Given the description of an element on the screen output the (x, y) to click on. 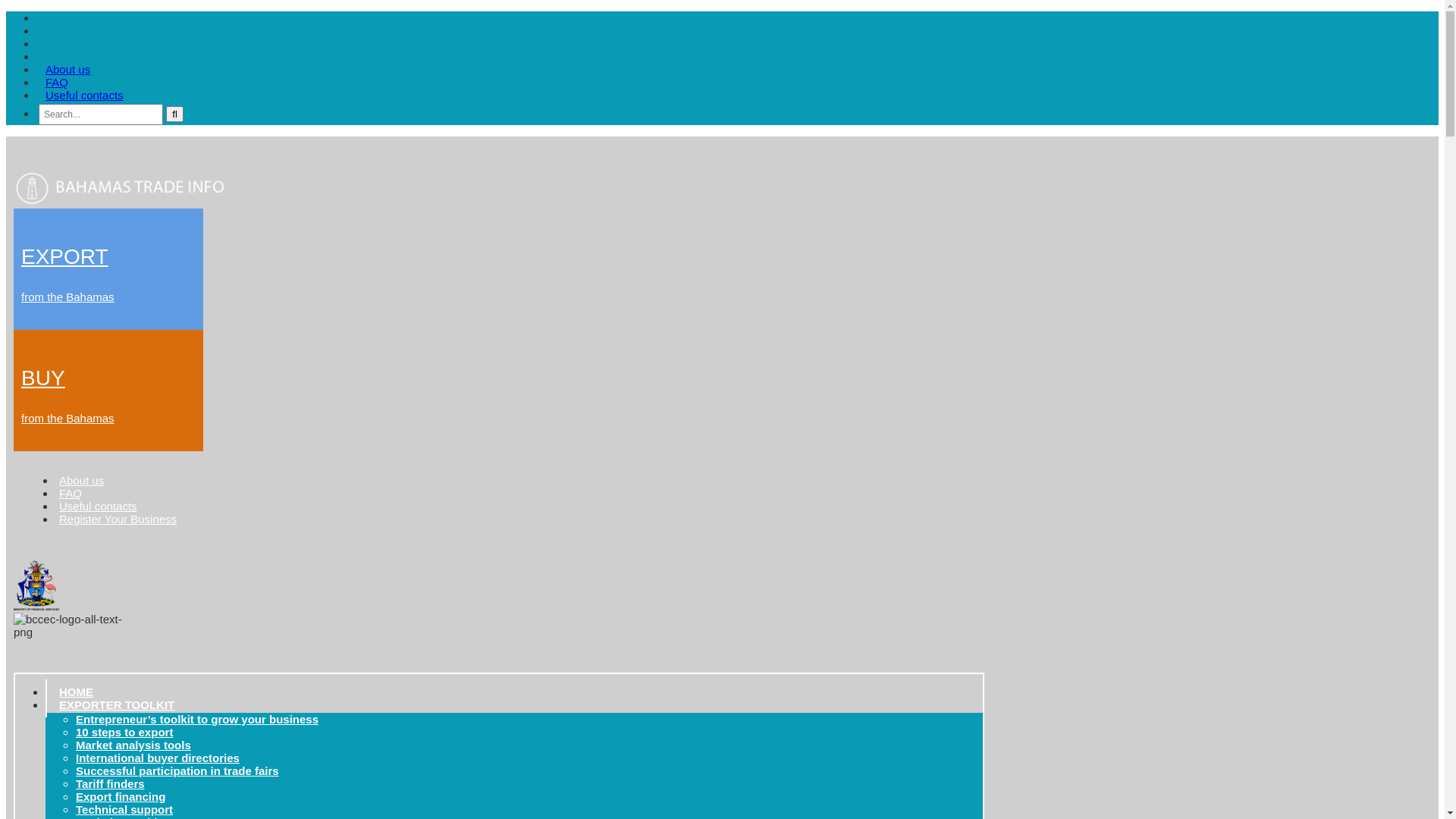
International buyer directories Element type: text (157, 757)
from the Bahamas Element type: text (67, 417)
from the Bahamas Element type: text (67, 296)
FAQ Element type: text (70, 492)
Market analysis tools Element type: text (133, 744)
Export financing Element type: text (120, 796)
FAQ Element type: text (56, 82)
Useful contacts Element type: text (98, 505)
BUY Element type: text (43, 377)
EXPORT Element type: text (64, 256)
Technical support Element type: text (123, 809)
10 steps to export Element type: text (123, 731)
Register Your Business Element type: text (117, 518)
Successful participation in trade fairs Element type: text (177, 770)
About us Element type: text (67, 69)
HOME Element type: text (75, 691)
Useful contacts Element type: text (84, 95)
Tariff finders Element type: text (109, 783)
About us Element type: text (81, 479)
EXPORTER TOOLKIT Element type: text (121, 704)
